Given the description of an element on the screen output the (x, y) to click on. 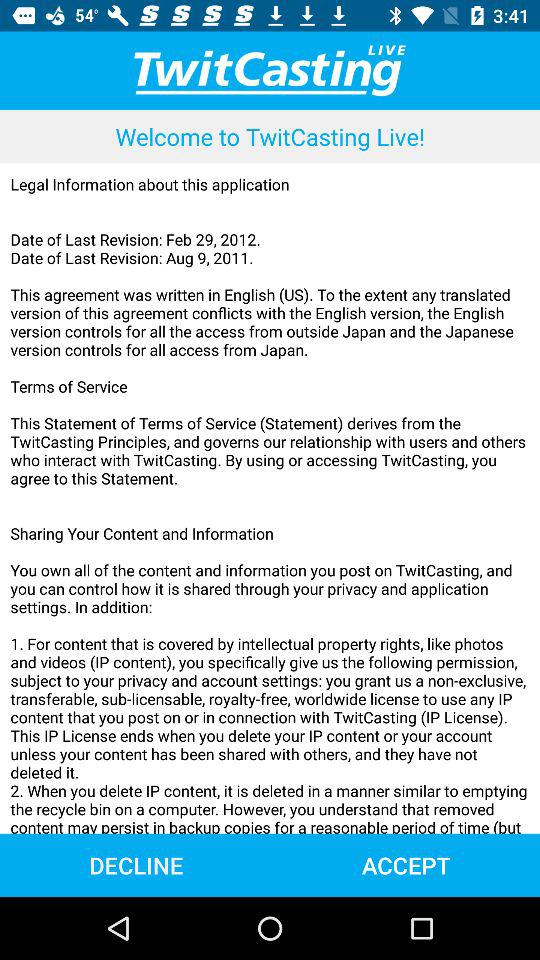
press decline (136, 864)
